Given the description of an element on the screen output the (x, y) to click on. 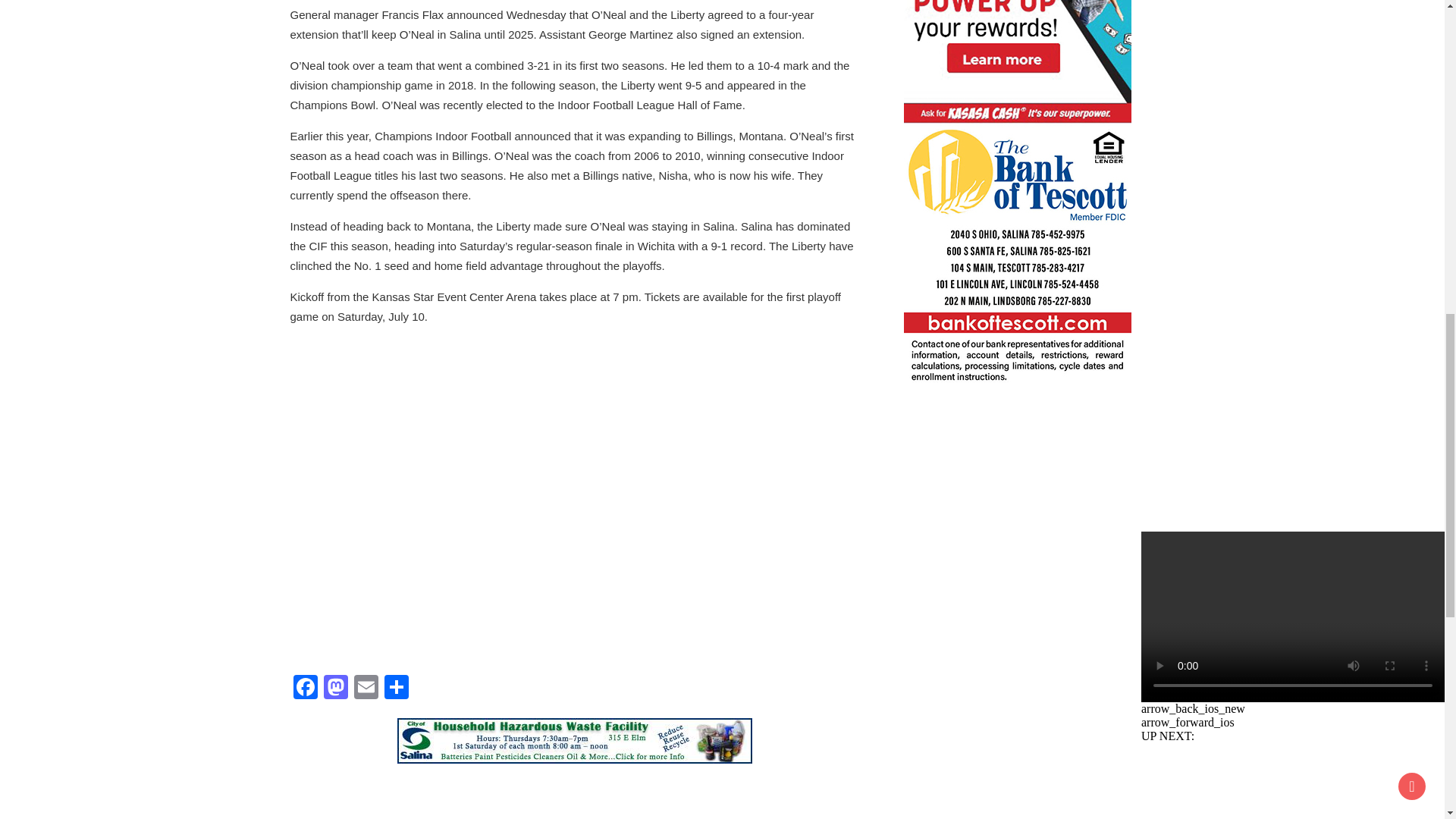
Email (365, 688)
Mastodon (335, 688)
Facebook (304, 688)
City of Salina (574, 740)
